Given the description of an element on the screen output the (x, y) to click on. 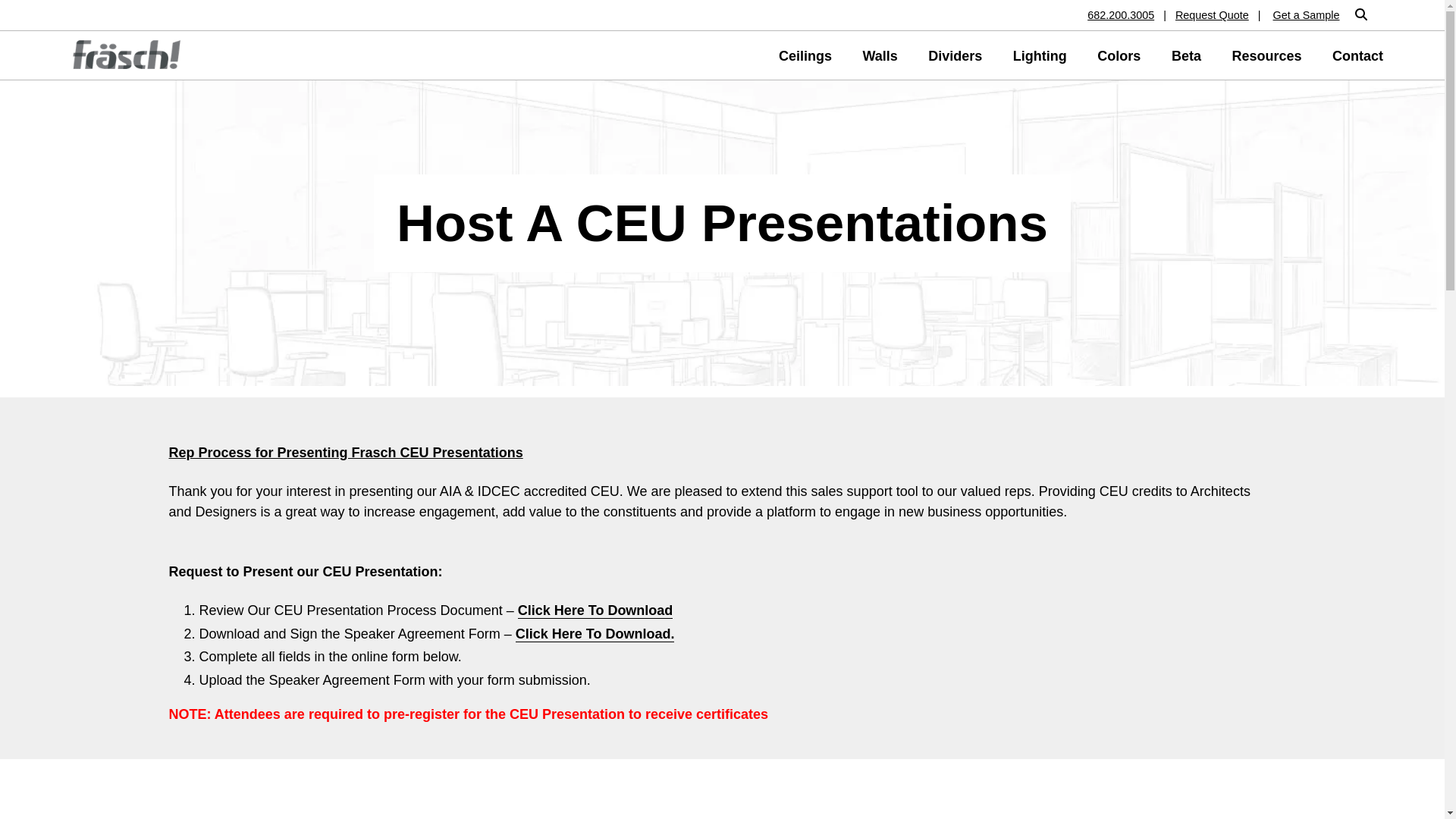
Acoustical Lighting (1040, 55)
Resources (1266, 55)
Click Here To Download (595, 610)
Colors (1118, 55)
Click Here To Download. (595, 634)
Lighting (1040, 55)
Dividers (954, 55)
Resources (1266, 55)
Contact (1357, 55)
Get a Sample (1301, 15)
Request Quote (1211, 15)
Colors (1118, 55)
Get a Sample (1301, 15)
Request Quote (1211, 15)
682.200.3005 (1124, 15)
